Given the description of an element on the screen output the (x, y) to click on. 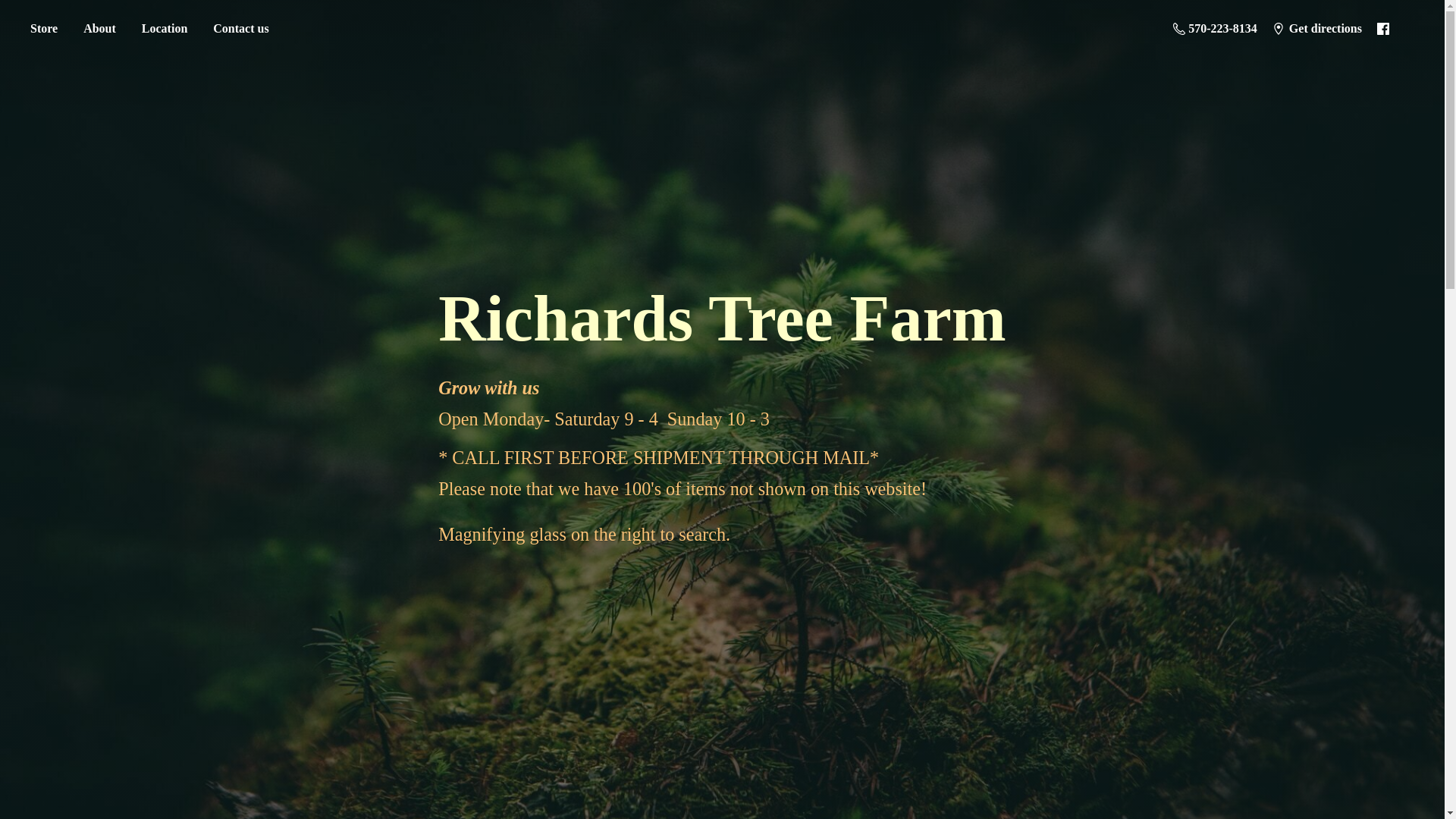
Store (43, 29)
570-223-8134 (1215, 28)
About (99, 29)
Location (164, 29)
Contact us (240, 29)
Get directions (1317, 28)
